Given the description of an element on the screen output the (x, y) to click on. 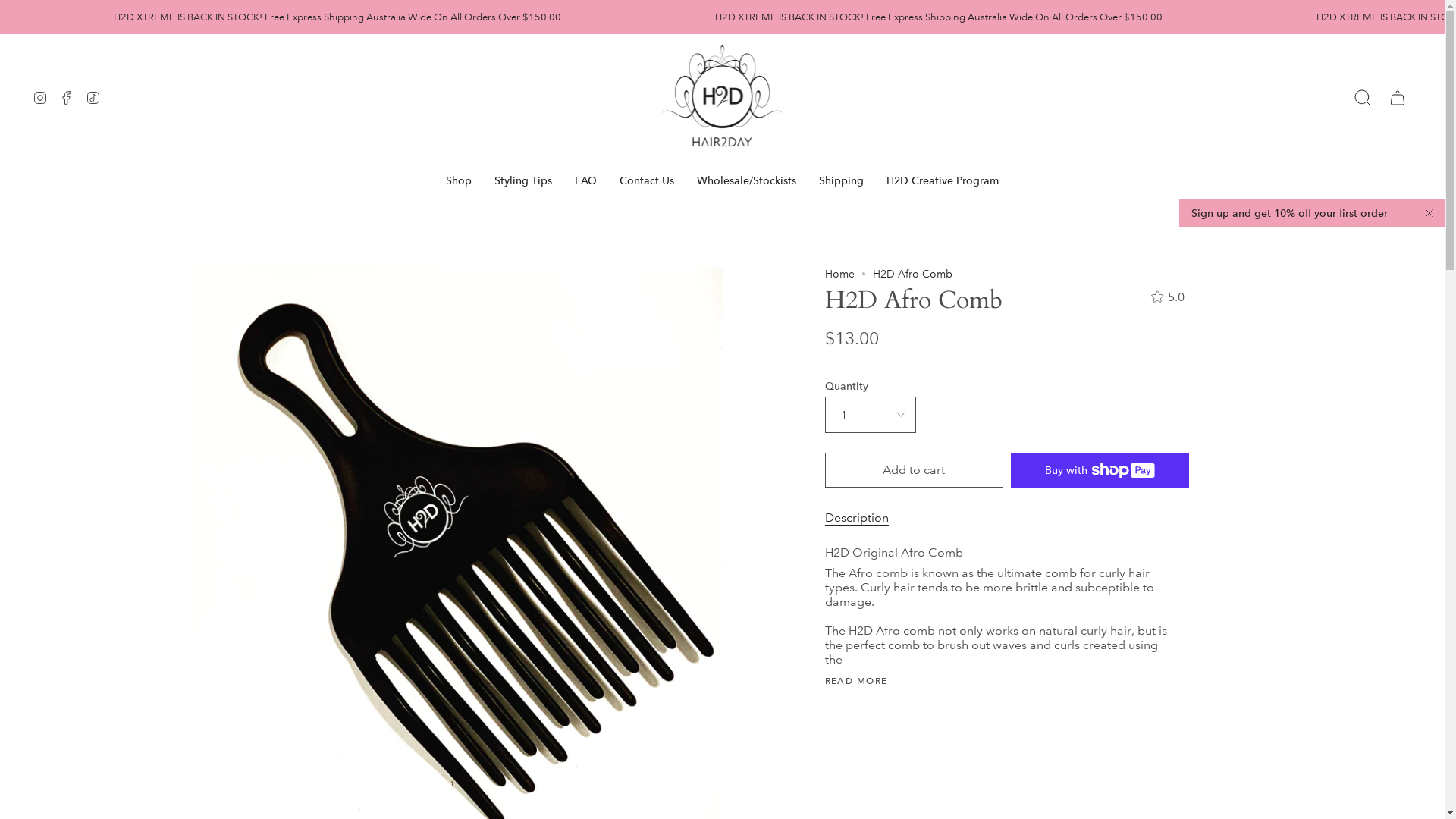
Instagram Element type: text (39, 98)
Facebook Element type: text (66, 98)
Shipping Element type: text (841, 180)
Search Element type: text (1362, 98)
READ MORE Element type: text (856, 680)
Contact Us Element type: text (646, 180)
Styling Tips Element type: text (523, 180)
H2D Creative Program Element type: text (942, 180)
Add to cart Element type: text (914, 469)
Home Element type: text (839, 273)
FAQ Element type: text (585, 180)
Shop Element type: text (458, 180)
Cart Element type: text (1397, 98)
5.0 Element type: text (1165, 296)
Wholesale/Stockists Element type: text (746, 180)
1 Element type: text (870, 414)
Close Element type: hover (1429, 212)
TikTok Element type: text (92, 98)
